Given the description of an element on the screen output the (x, y) to click on. 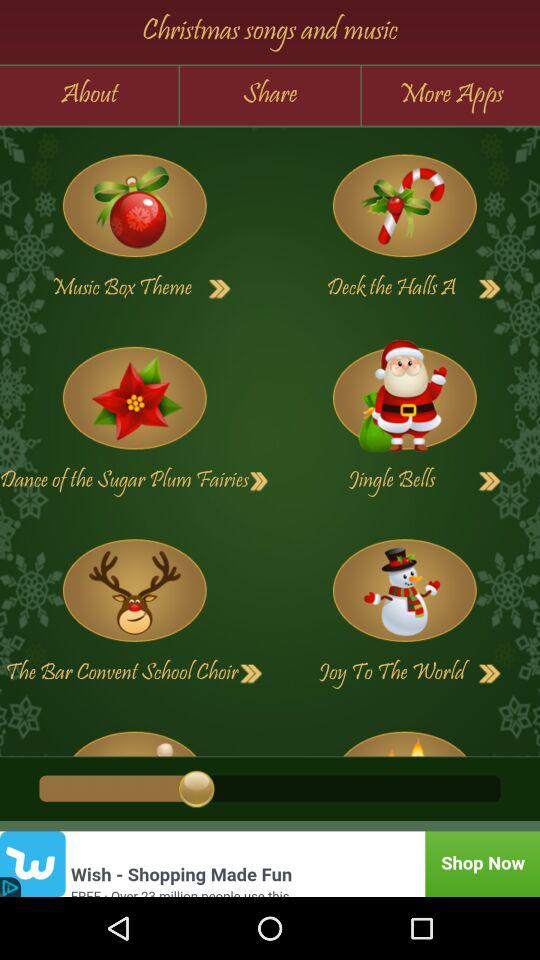
go to the next (404, 398)
